Given the description of an element on the screen output the (x, y) to click on. 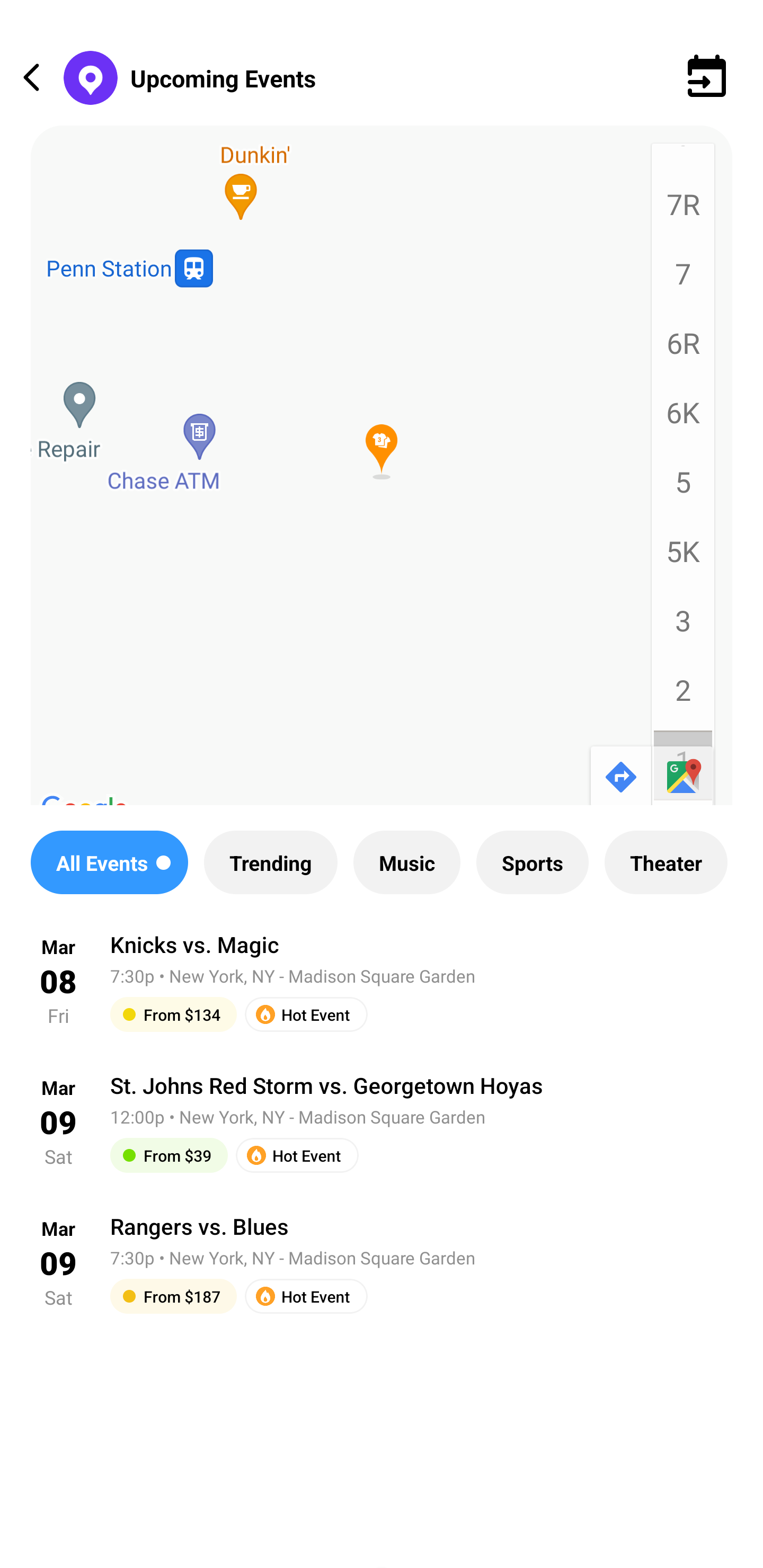
7R Level 7R (682, 209)
7 Level 7 (682, 279)
6R Level 6R (682, 348)
6K Level 6K (682, 418)
5 Level 5 (682, 487)
5K Level 5K (682, 557)
3 Level 3 (682, 626)
2 Level 2 (682, 695)
Get directions (618, 777)
Open in Google Maps (683, 777)
All Events (109, 862)
Trending (270, 862)
Music (406, 862)
Sports (532, 862)
Theater (665, 862)
